Given the description of an element on the screen output the (x, y) to click on. 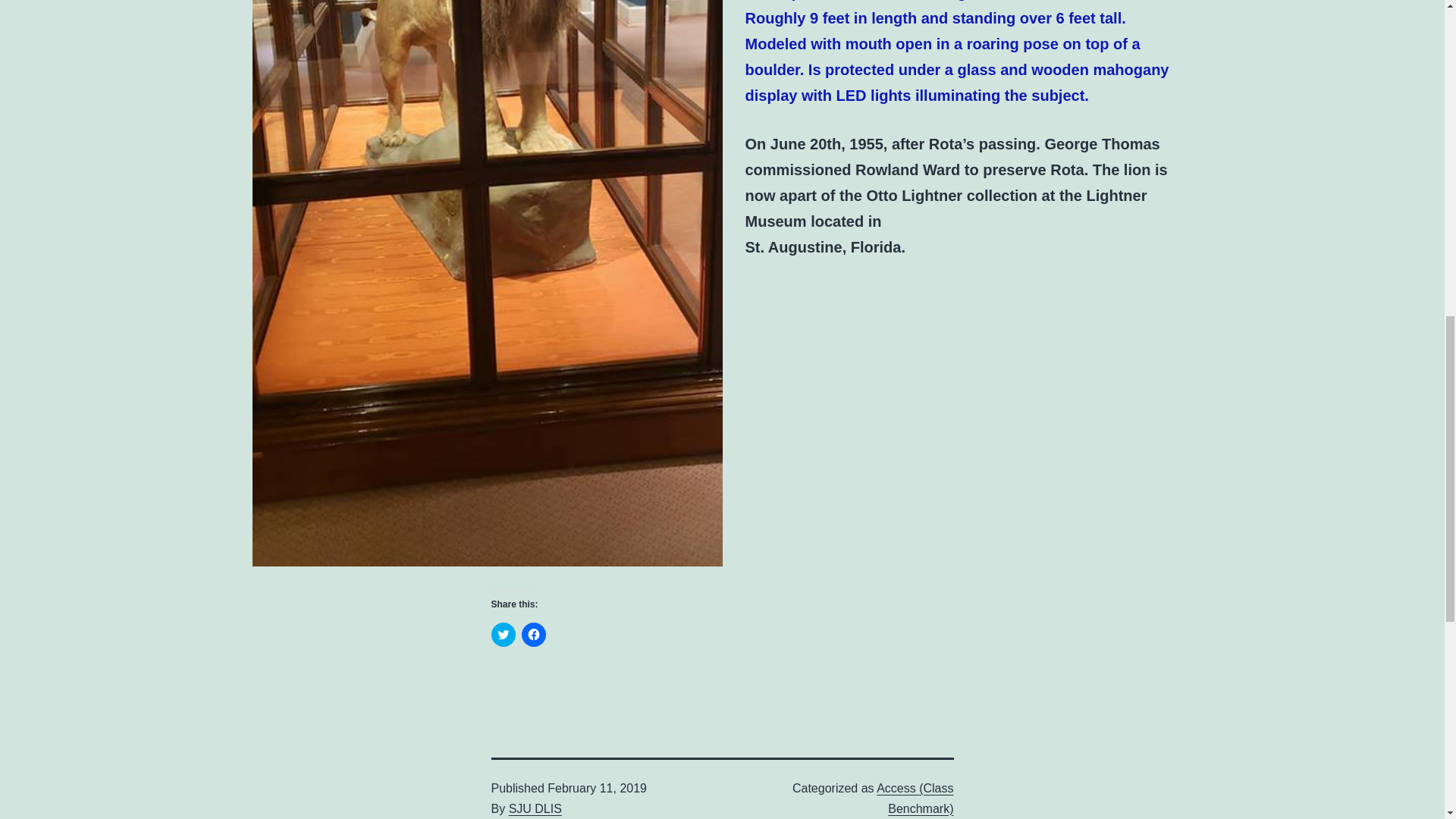
Click to share on Twitter (503, 634)
SJU DLIS (535, 808)
Click to share on Facebook (533, 634)
